Given the description of an element on the screen output the (x, y) to click on. 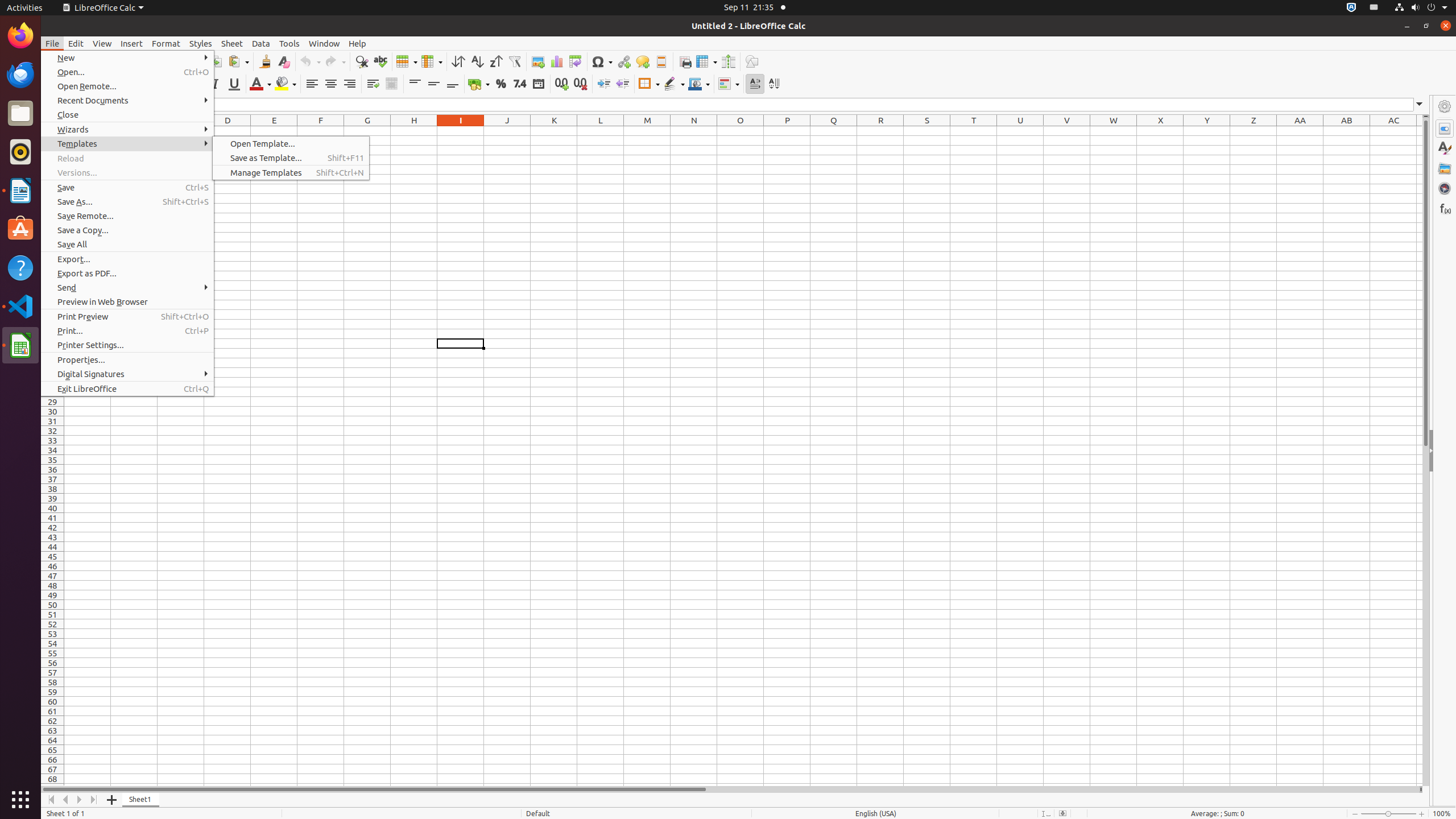
AB1 Element type: table-cell (1346, 130)
Gallery Element type: radio-button (1444, 168)
AD1 Element type: table-cell (1419, 130)
Split Window Element type: push-button (727, 61)
Align Center Element type: push-button (330, 83)
